Given the description of an element on the screen output the (x, y) to click on. 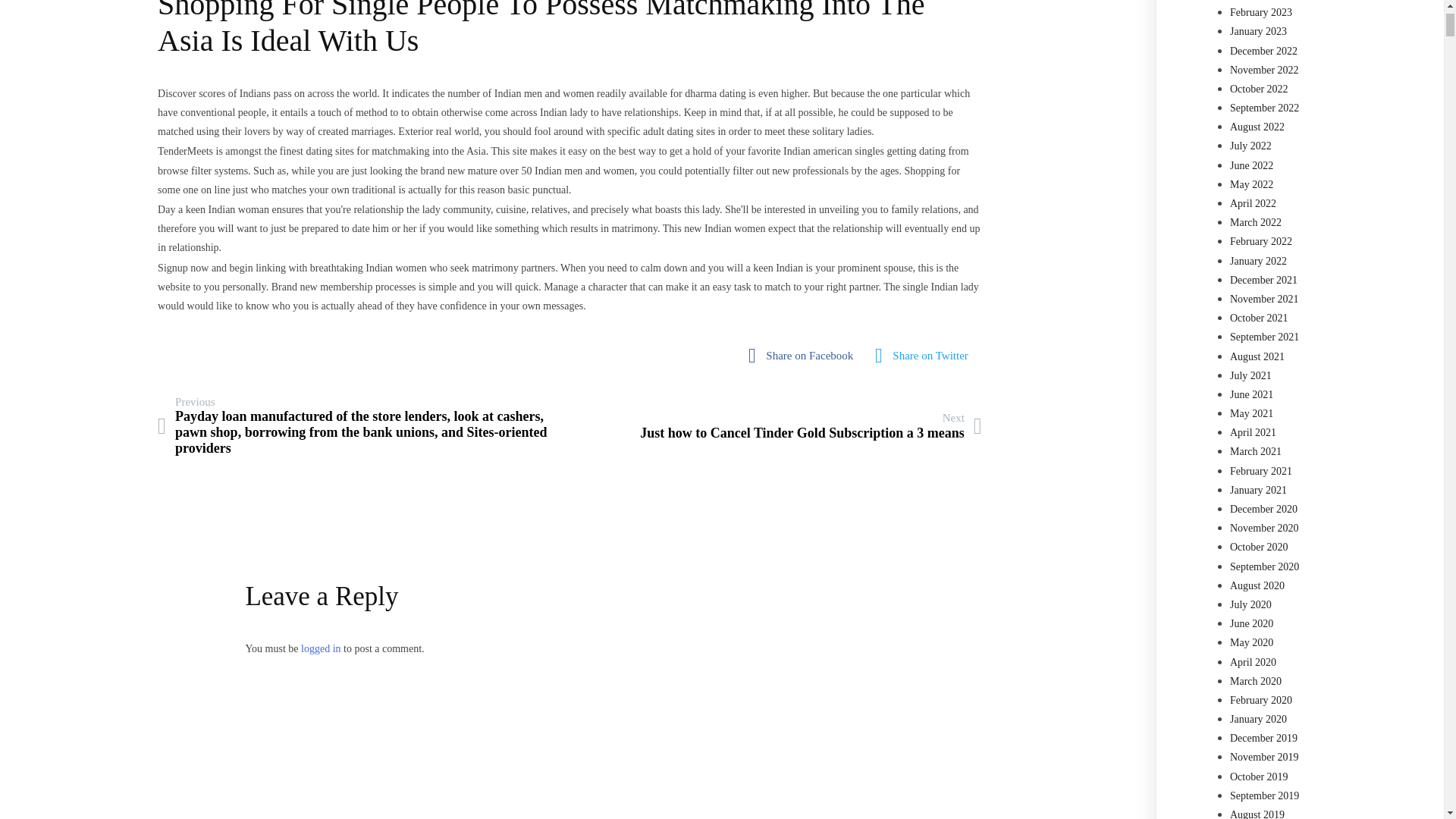
Share on Twitter (925, 356)
logged in (320, 648)
January 2023 (1258, 30)
fab fa-facebook-square (804, 356)
December 2022 (1263, 50)
February 2023 (810, 425)
fab fa-twitter-square (1261, 12)
Share on Facebook (925, 356)
